Given the description of an element on the screen output the (x, y) to click on. 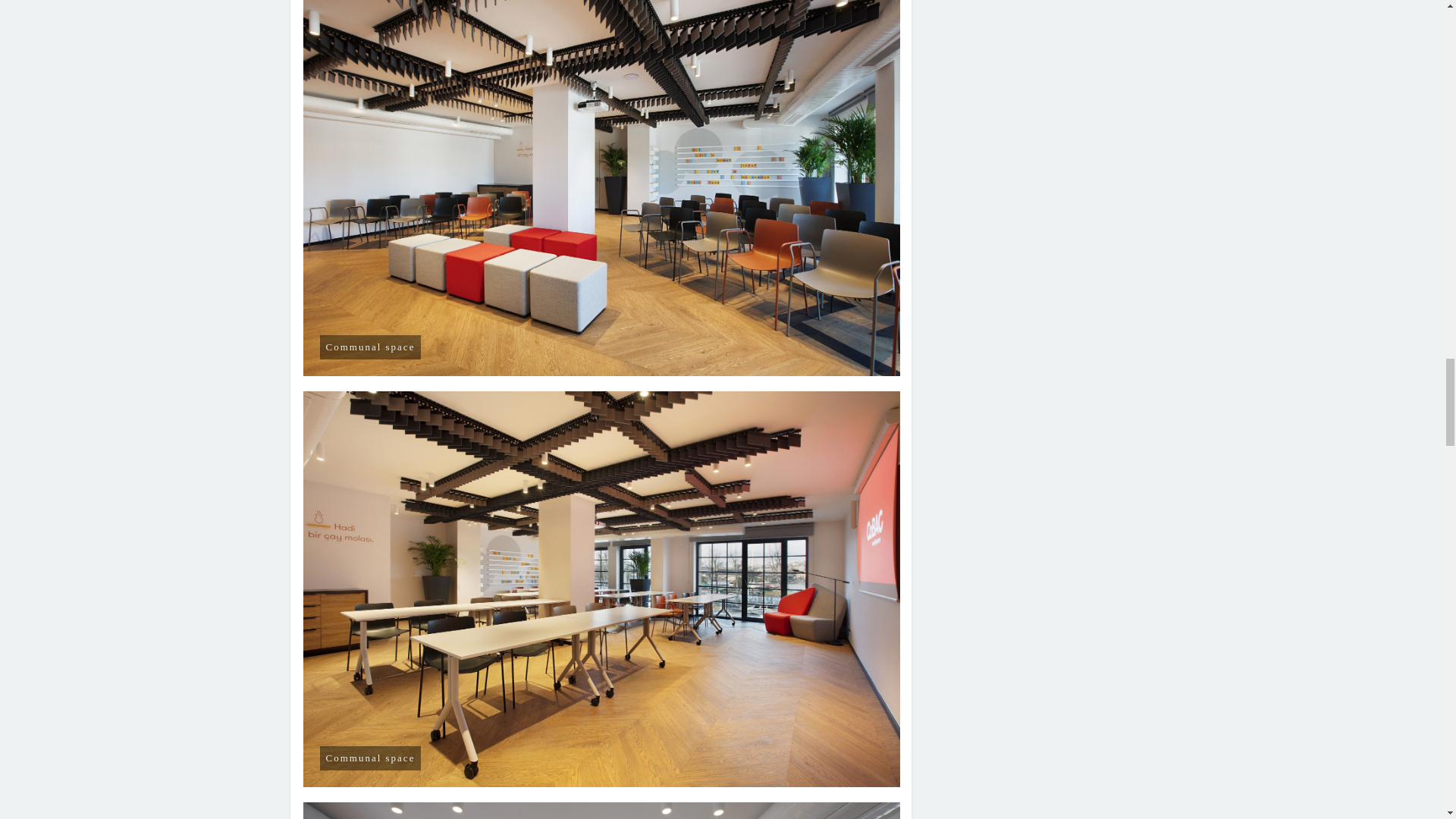
Communal space (601, 810)
